Given the description of an element on the screen output the (x, y) to click on. 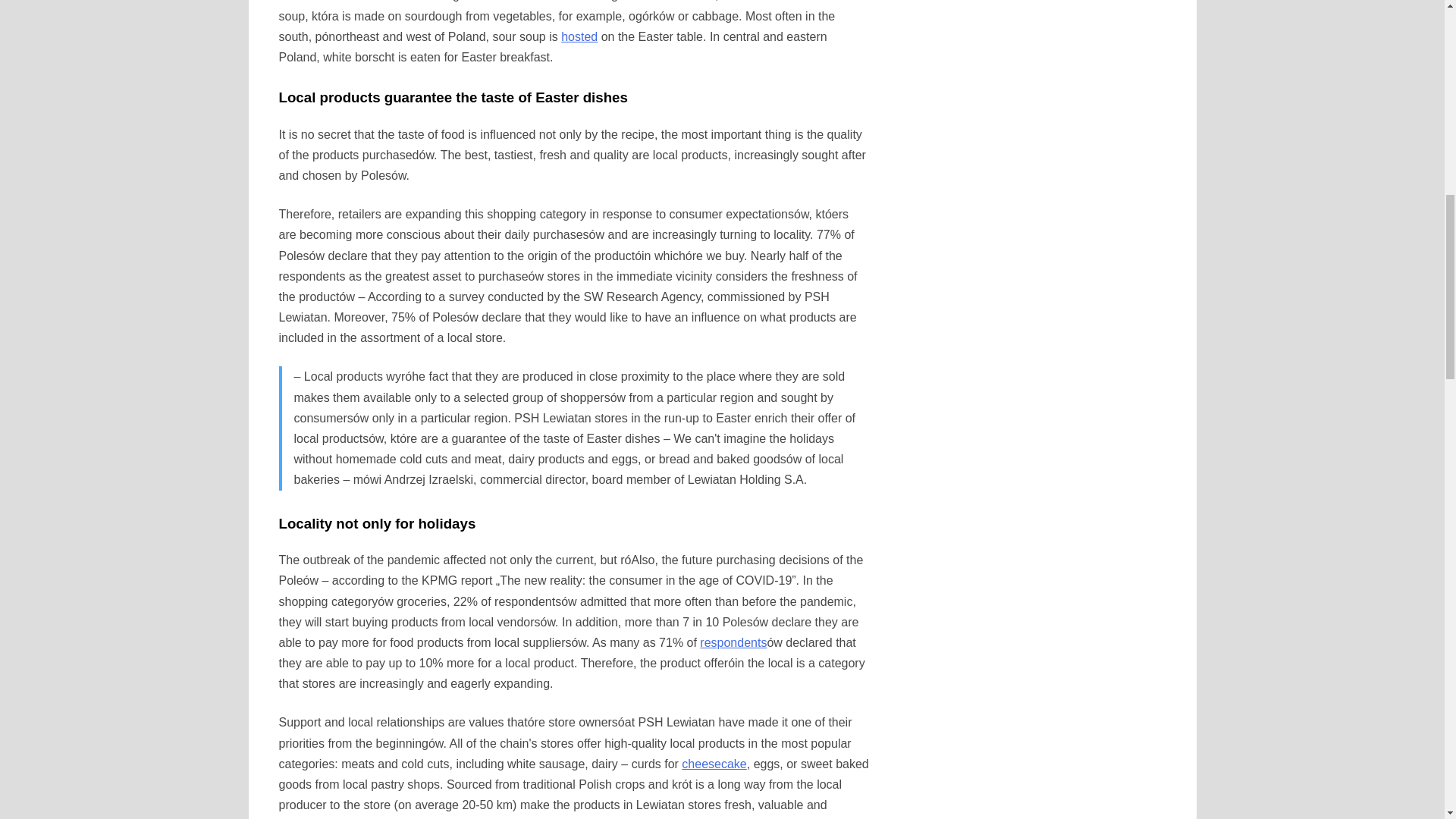
cheesecake (713, 763)
hosted (578, 36)
respondents (733, 642)
